Given the description of an element on the screen output the (x, y) to click on. 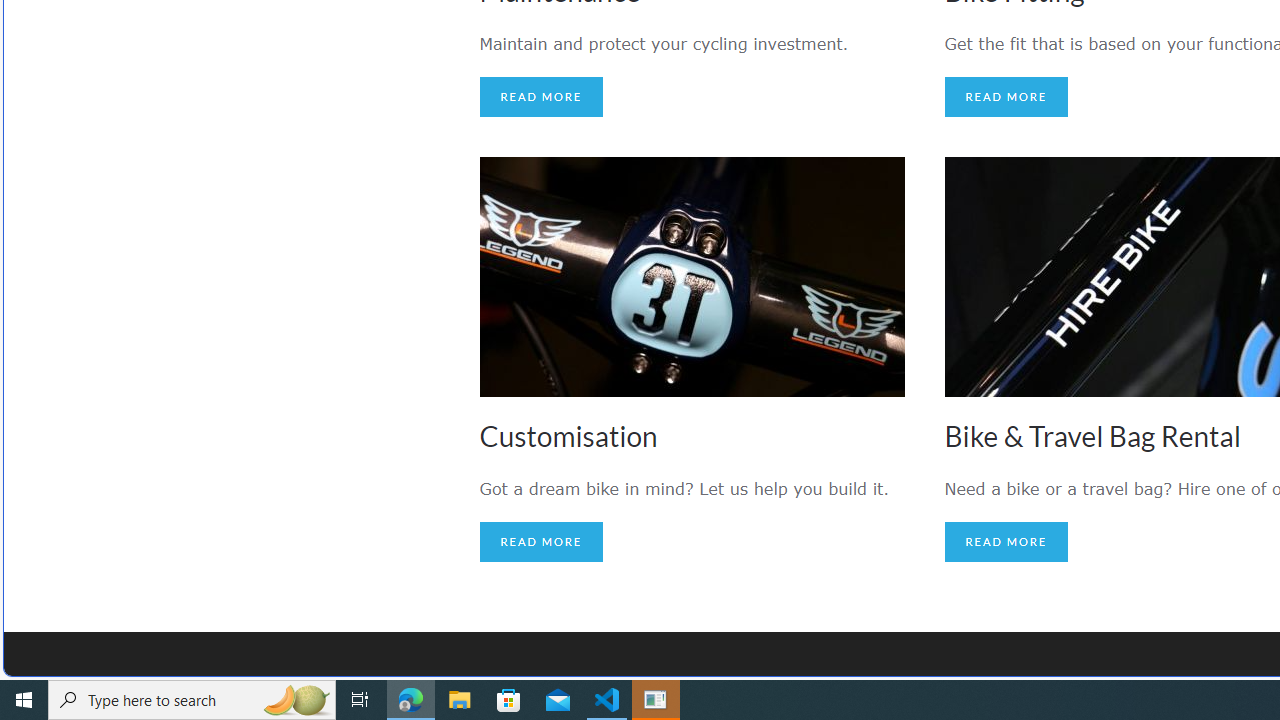
READ MORE (1006, 542)
